Given the description of an element on the screen output the (x, y) to click on. 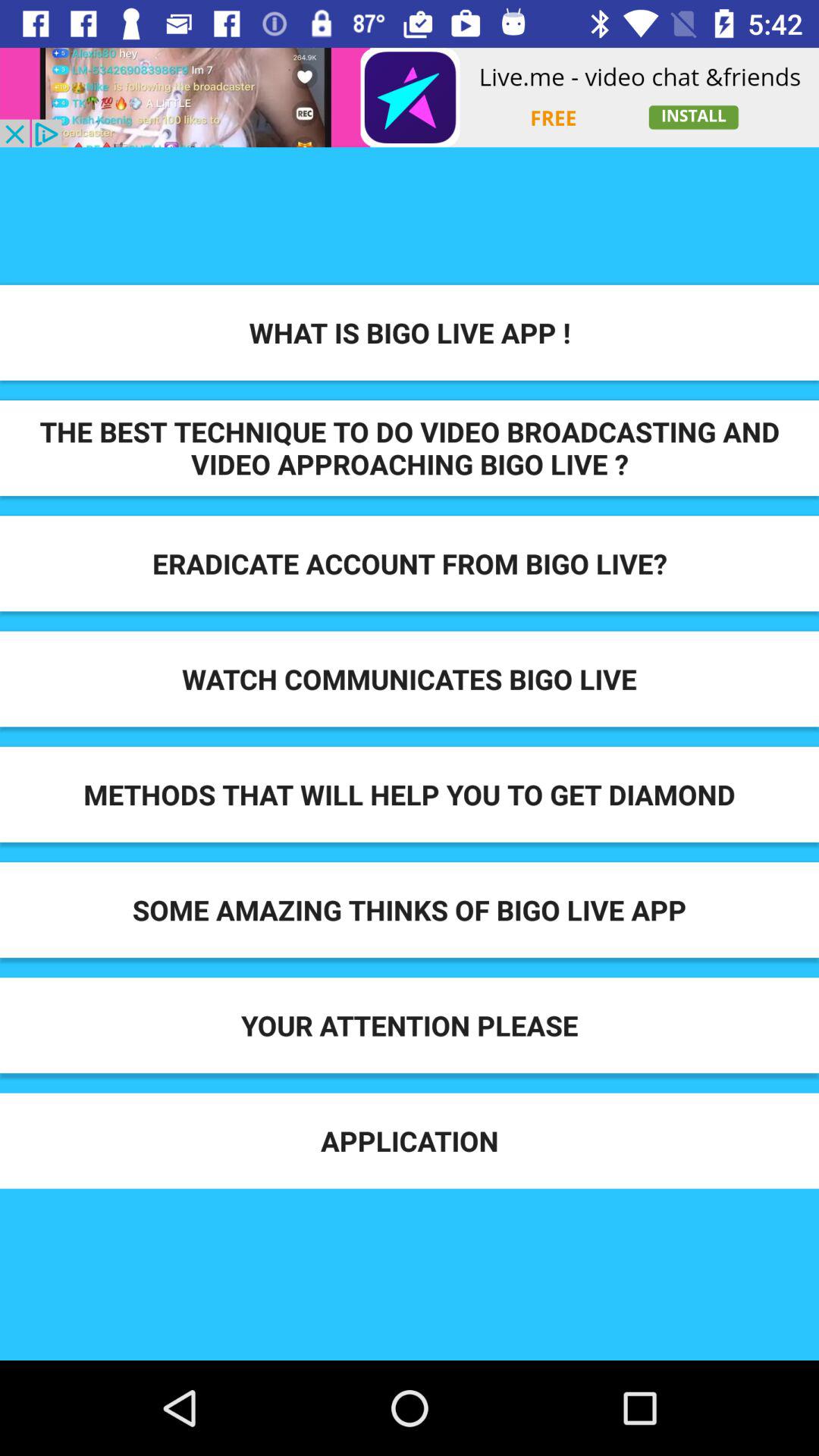
open advertisement (409, 97)
